Given the description of an element on the screen output the (x, y) to click on. 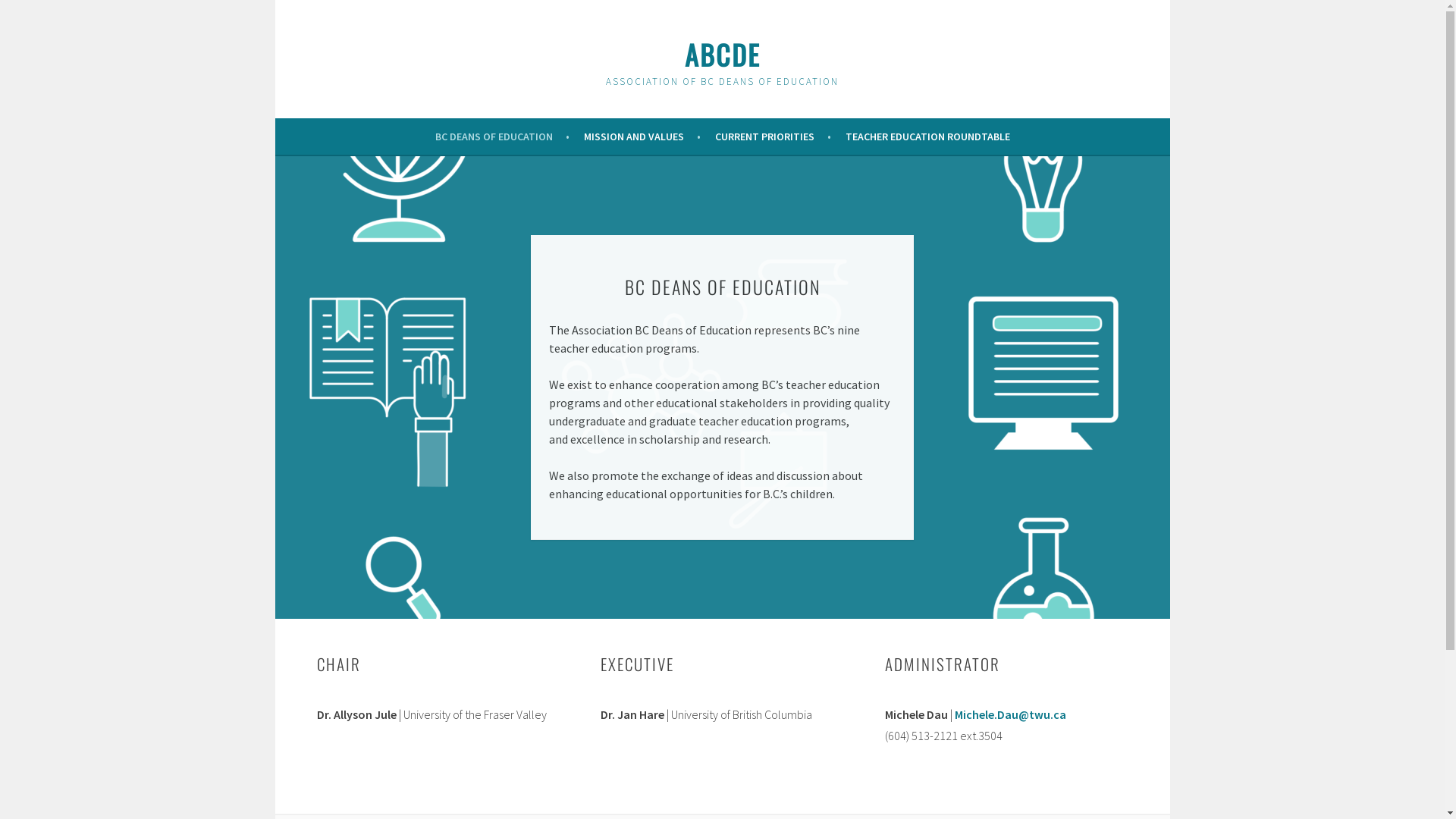
TEACHER EDUCATION ROUNDTABLE Element type: text (926, 136)
CURRENT PRIORITIES Element type: text (772, 136)
BC DEANS OF EDUCATION Element type: text (502, 136)
MISSION AND VALUES Element type: text (641, 136)
ABCDE Element type: text (721, 54)
Michele.Dau@twu.ca Element type: text (1009, 713)
